Given the description of an element on the screen output the (x, y) to click on. 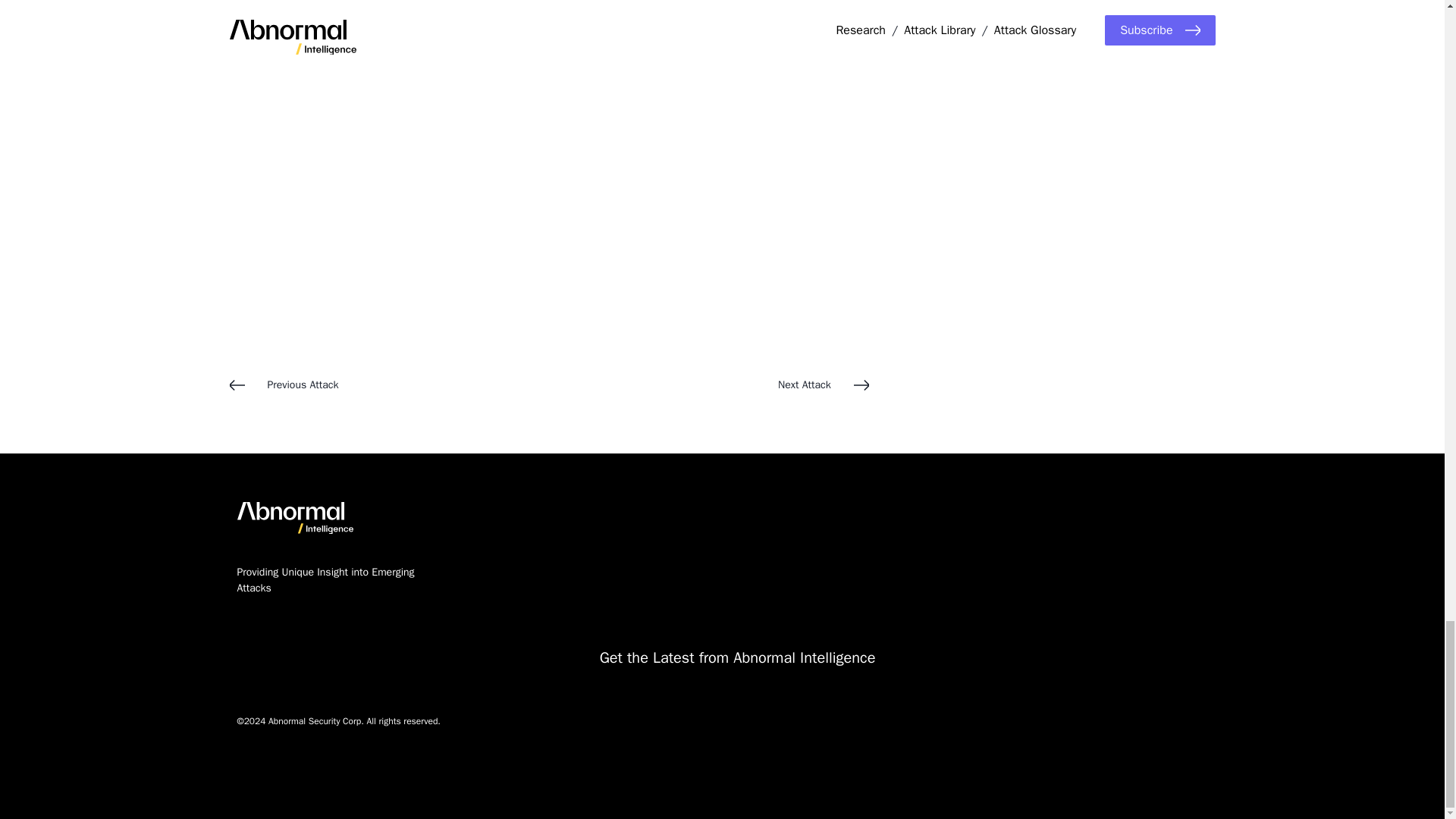
Previous Attack (388, 384)
Next Attack (708, 384)
